Given the description of an element on the screen output the (x, y) to click on. 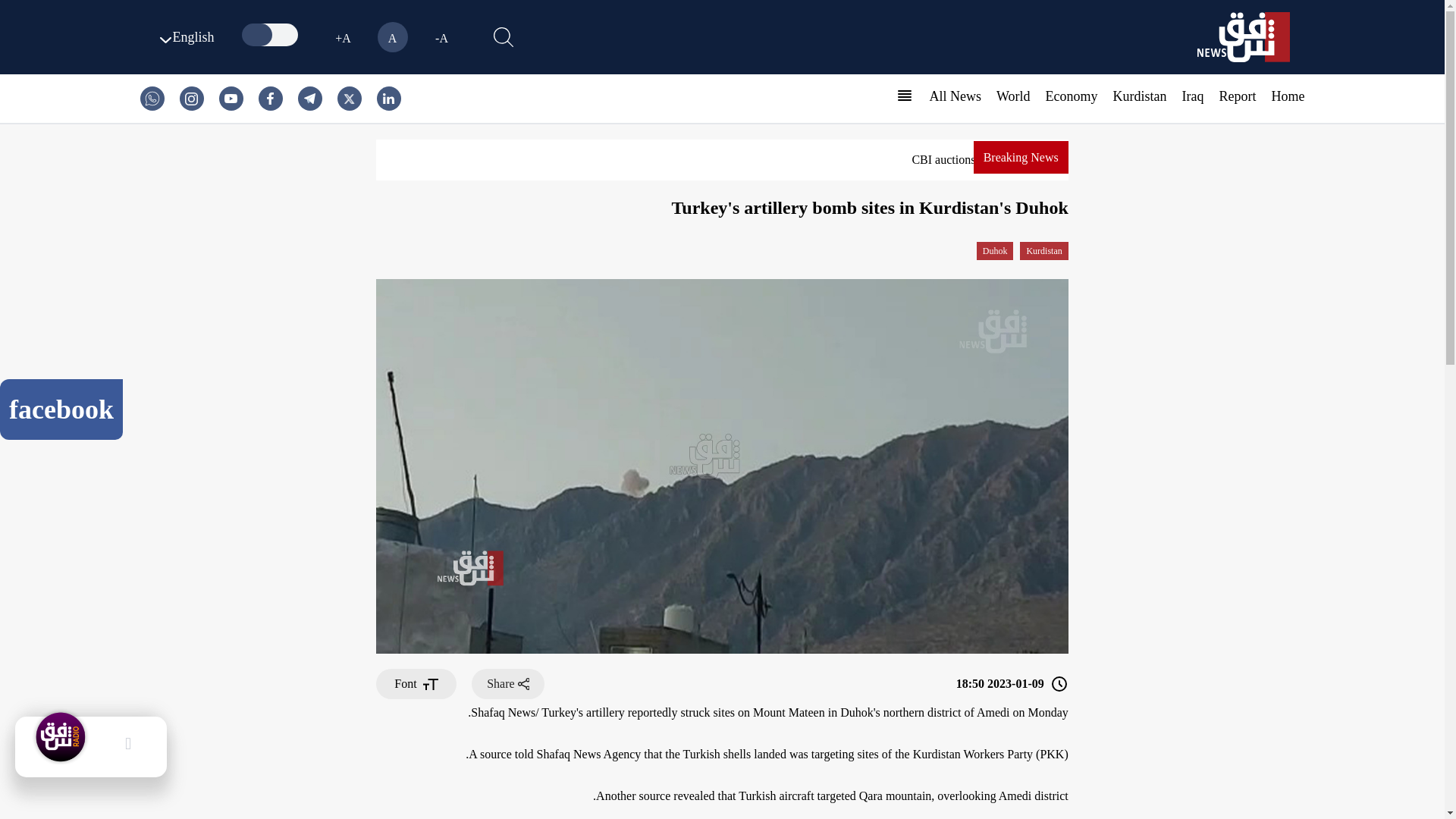
Iraq (1193, 96)
Report (1238, 96)
Economy (1071, 96)
Home (1287, 96)
on (271, 34)
A (392, 37)
World (1012, 96)
A- (441, 37)
English (184, 37)
All News (954, 96)
